Given the description of an element on the screen output the (x, y) to click on. 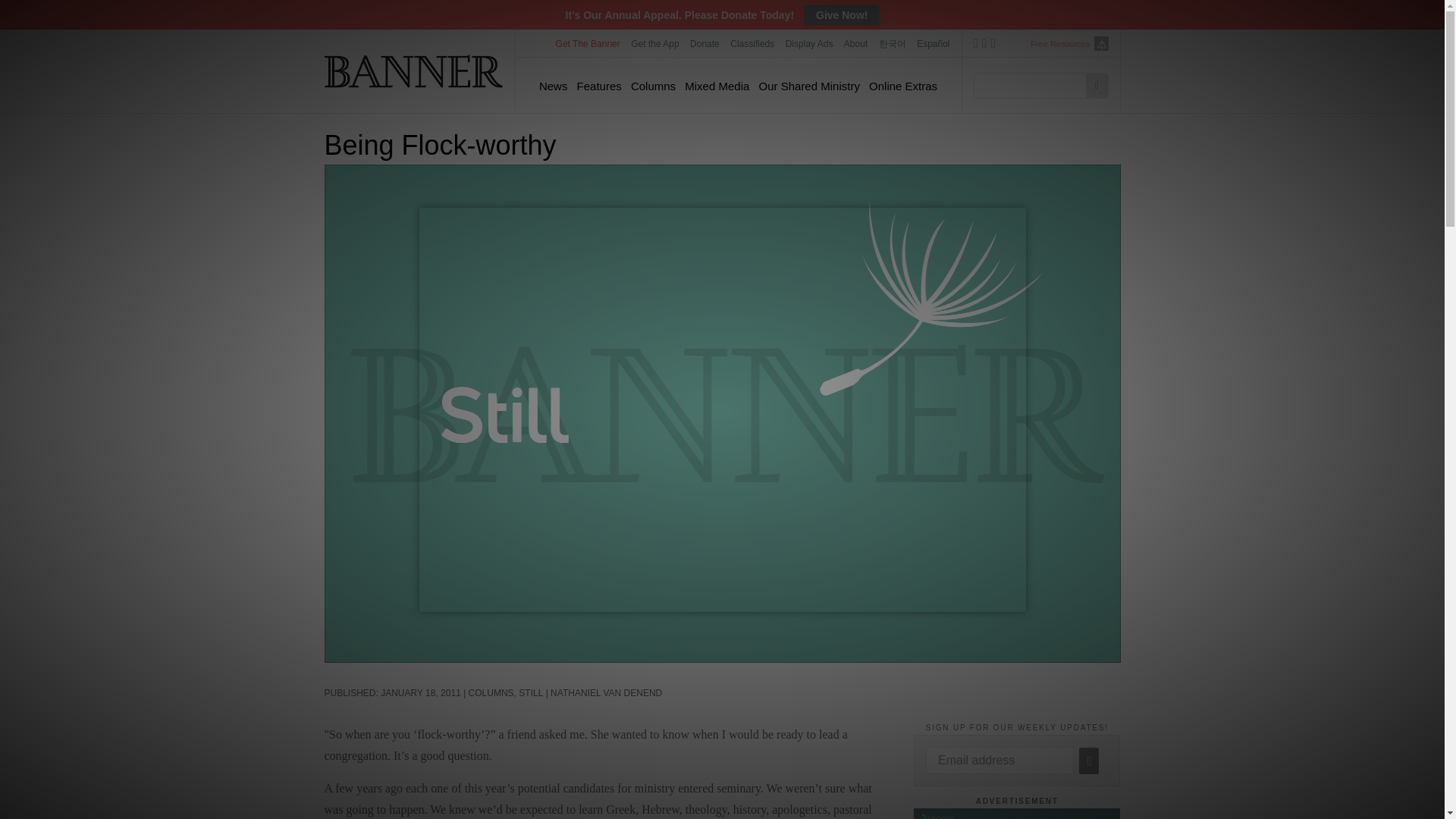
Features (598, 85)
Home (413, 70)
Donate (704, 43)
Enter the terms you wish to search for. (1035, 85)
Free Resources (1059, 44)
Get The Banner (587, 43)
NATHANIEL VAN DENEND (606, 692)
Get the App (654, 43)
News (552, 85)
COLUMNS, (493, 692)
Mixed Media (716, 85)
Columns (652, 85)
Classifieds (751, 43)
Our Shared Ministry (809, 85)
